Given the description of an element on the screen output the (x, y) to click on. 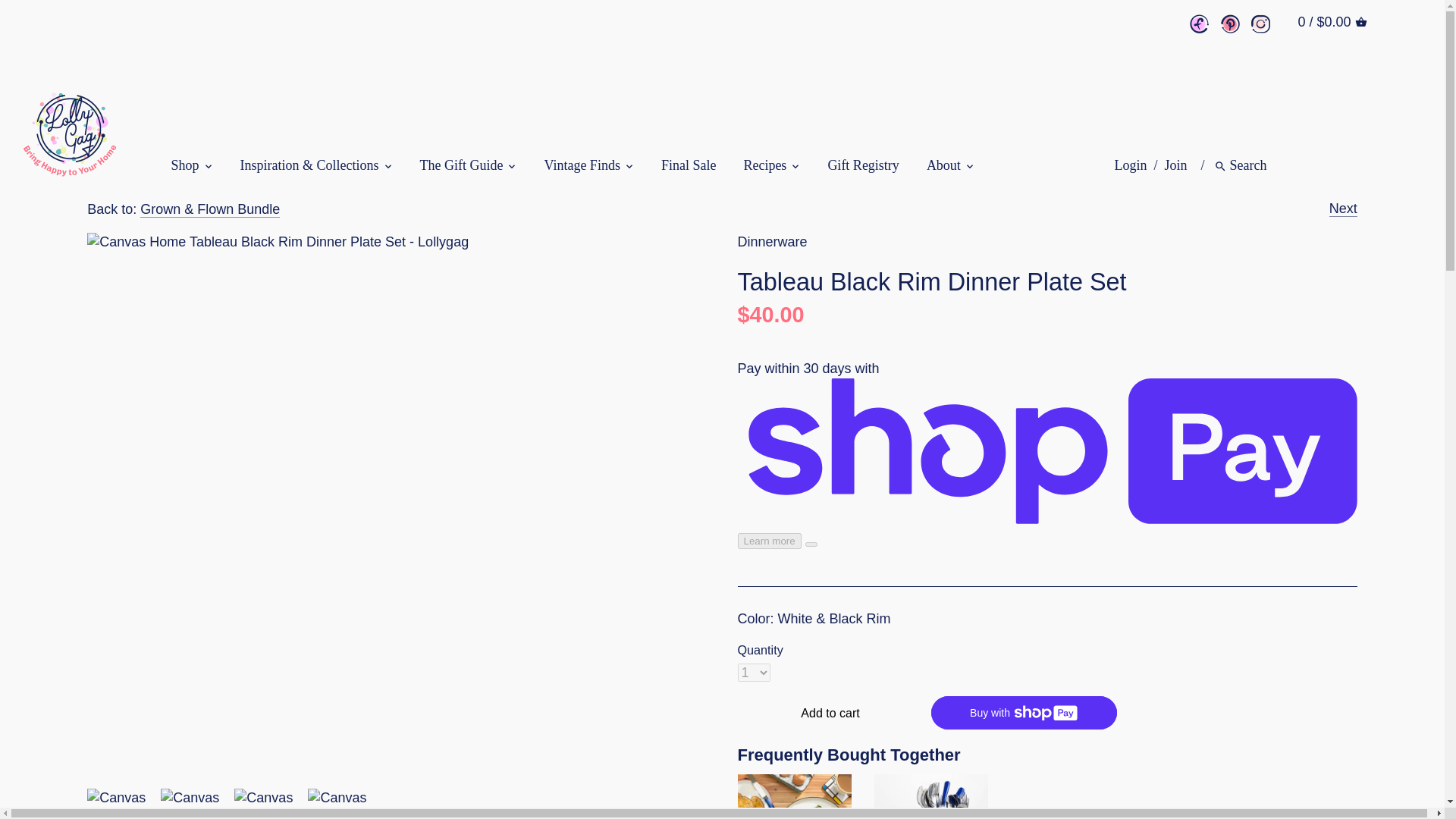
Shop (191, 168)
Pinterest (1230, 23)
Facebook (1198, 23)
CART (1360, 21)
Instagram (1259, 23)
